Given the description of an element on the screen output the (x, y) to click on. 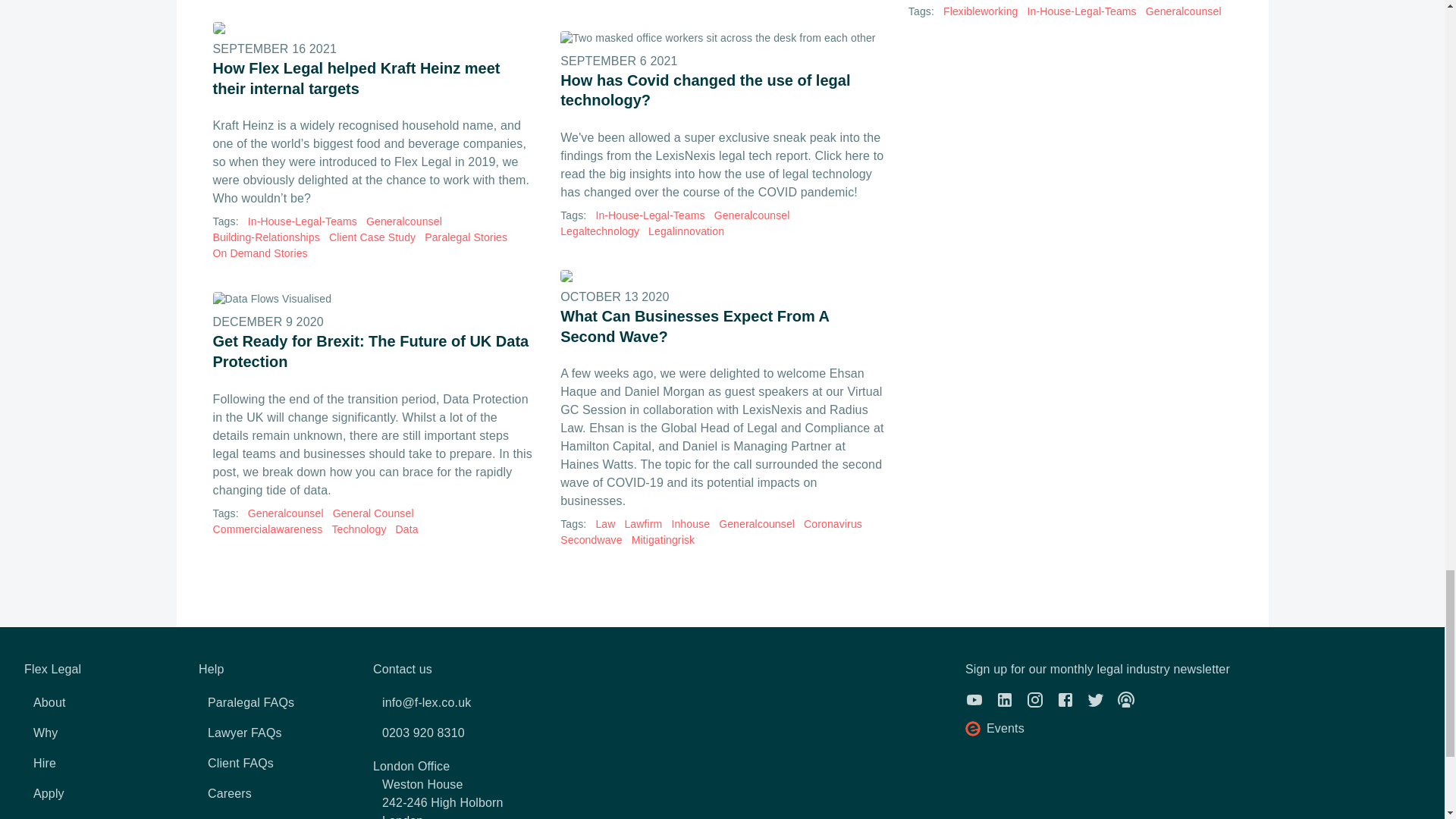
How has Covid changed the use of legal technology? (721, 38)
DATA UPON DATA (373, 299)
